Given the description of an element on the screen output the (x, y) to click on. 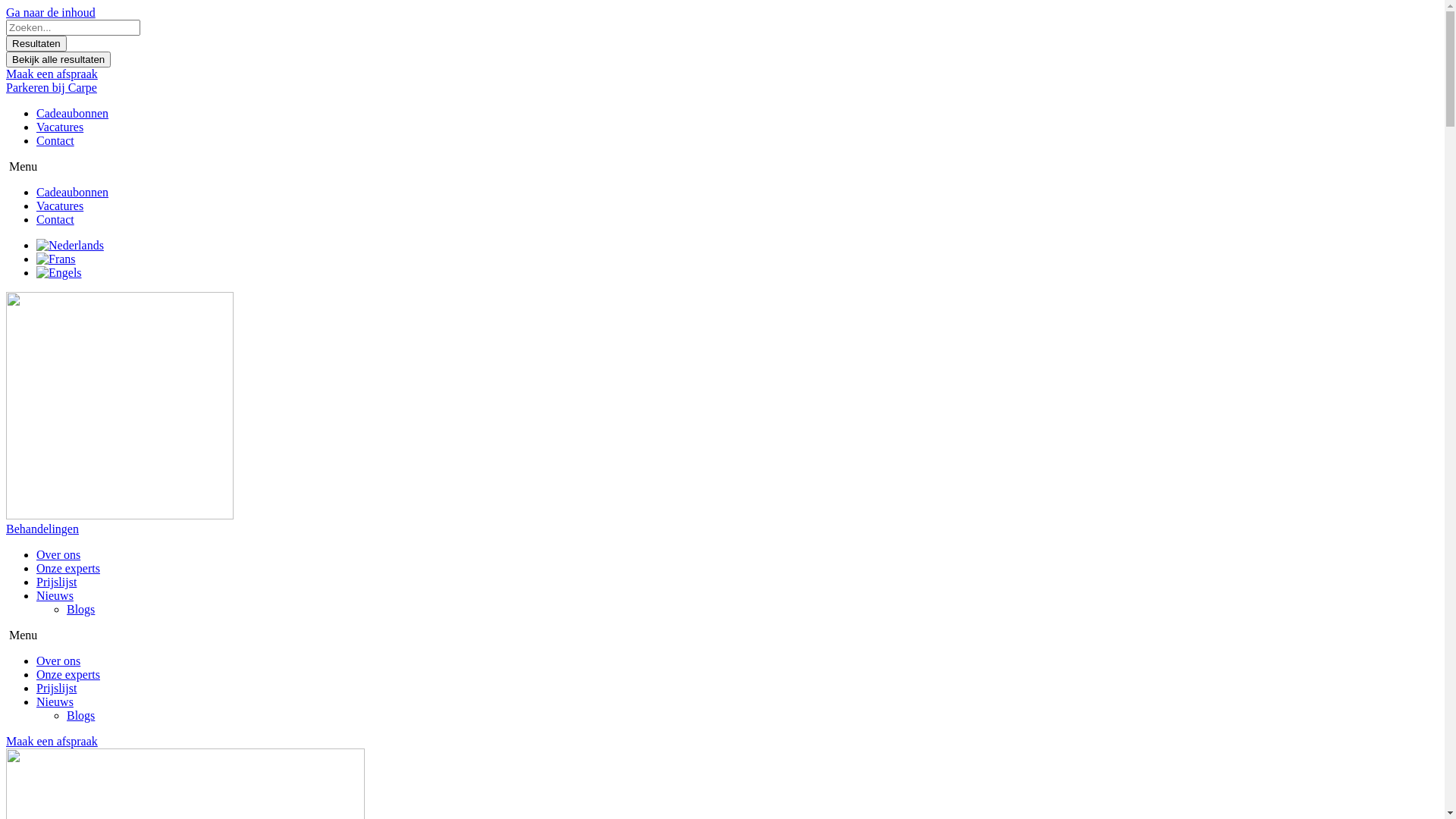
Contact Element type: text (55, 140)
Over ons Element type: text (58, 554)
Over ons Element type: text (58, 660)
Vacatures Element type: text (59, 205)
Behandelingen Element type: text (42, 528)
Ga naar de inhoud Element type: text (50, 12)
Nieuws Element type: text (54, 701)
Prijslijst Element type: text (56, 581)
Vacatures Element type: text (59, 126)
Bekijk alle resultaten Element type: text (58, 59)
Onze experts Element type: text (68, 674)
Nieuws Element type: text (54, 595)
Maak een afspraak Element type: text (51, 73)
Blogs Element type: text (80, 715)
Resultaten Element type: text (36, 43)
Cadeaubonnen Element type: text (72, 112)
Blogs Element type: text (80, 608)
Prijslijst Element type: text (56, 687)
Maak een afspraak Element type: text (51, 740)
Cadeaubonnen Element type: text (72, 191)
Onze experts Element type: text (68, 567)
Contact Element type: text (55, 219)
Parkeren bij Carpe Element type: text (51, 87)
